Given the description of an element on the screen output the (x, y) to click on. 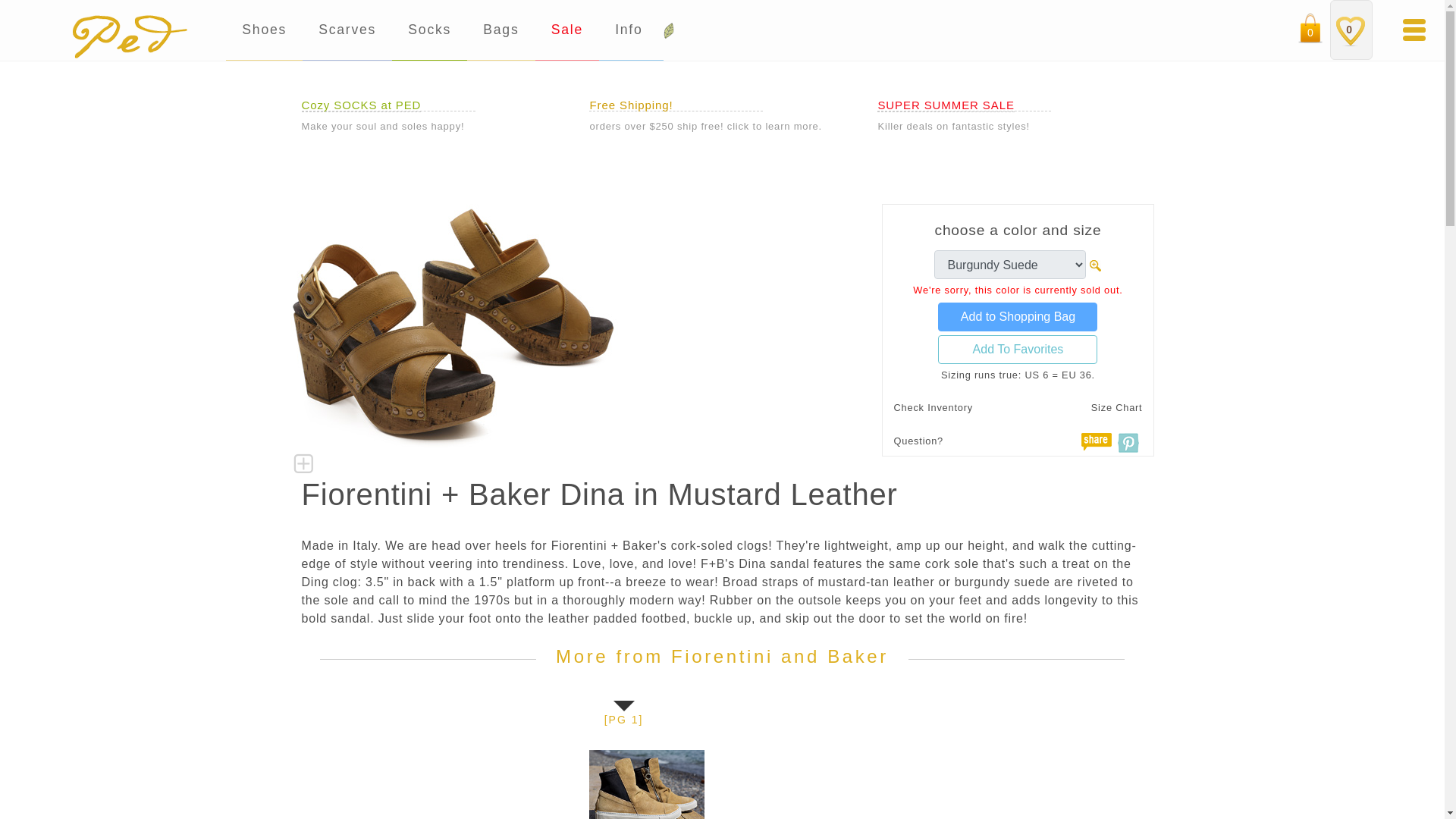
Sale (566, 30)
Shoes (263, 30)
Scarves (346, 30)
Info  (630, 30)
Add to Shopping Bag (1017, 316)
Socks (429, 30)
Bags (500, 30)
